Given the description of an element on the screen output the (x, y) to click on. 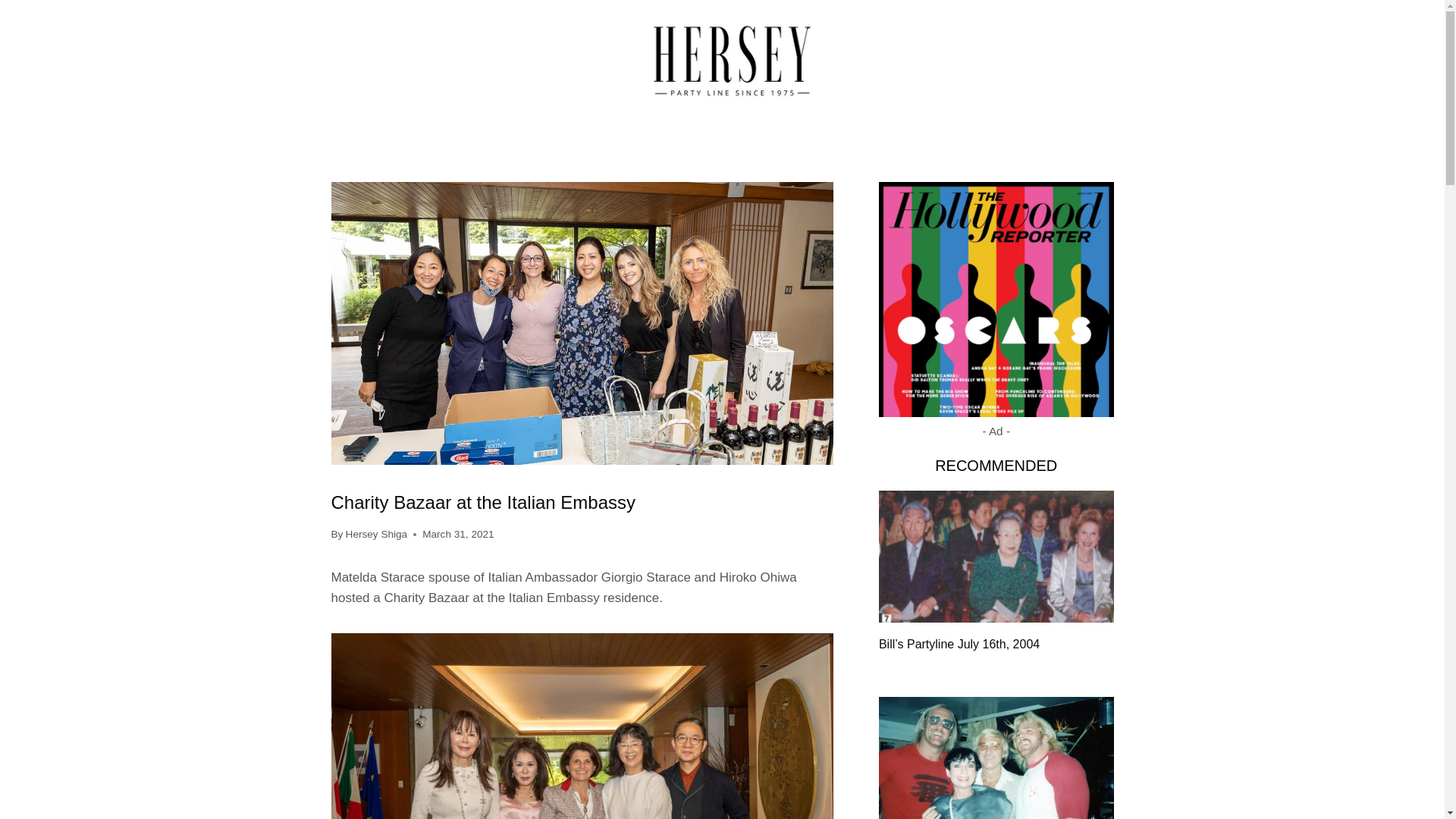
Hersey Shiga (376, 533)
